Given the description of an element on the screen output the (x, y) to click on. 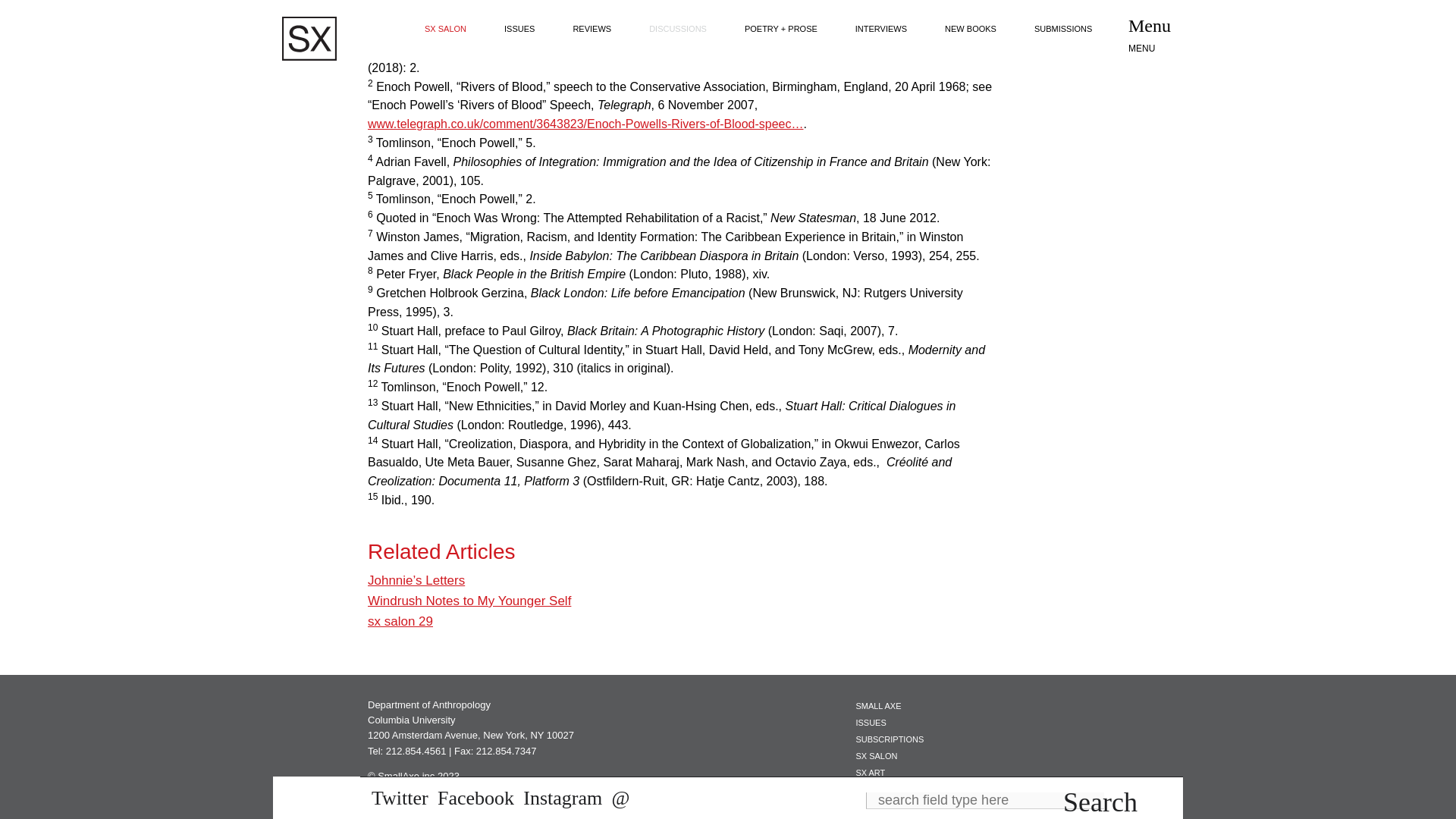
ISSUES (870, 722)
SUBSCRIPTIONS (889, 738)
SMALL AXE (878, 705)
sx salon 29 (400, 621)
Windrush Notes to My Younger Self (469, 600)
